Given the description of an element on the screen output the (x, y) to click on. 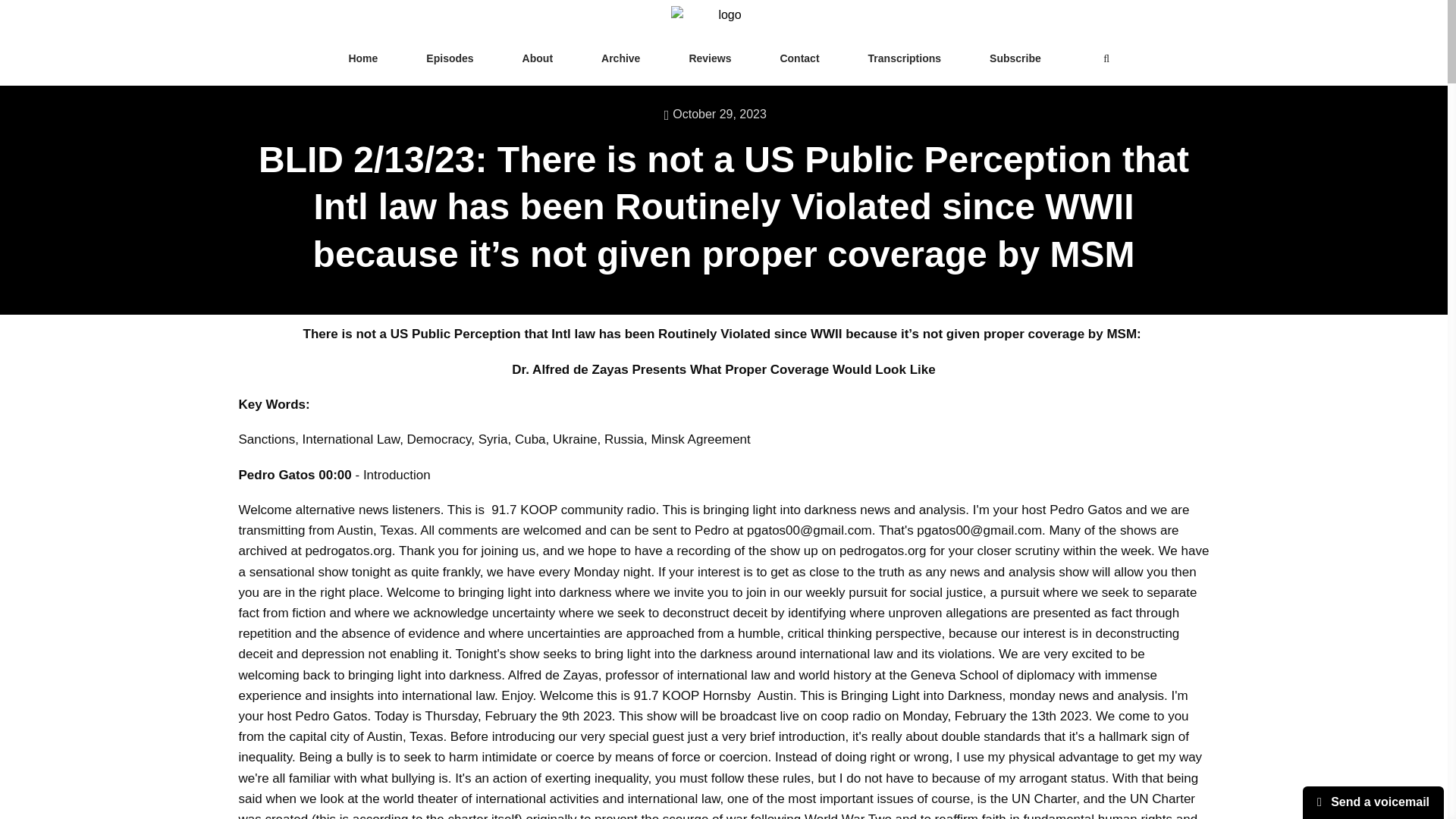
Episodes (449, 59)
Contact (799, 59)
Archive (619, 59)
Reviews (709, 59)
About (536, 59)
Subscribe (1015, 59)
Transcriptions (904, 59)
Home (362, 59)
Send a voicemail (1373, 802)
